Given the description of an element on the screen output the (x, y) to click on. 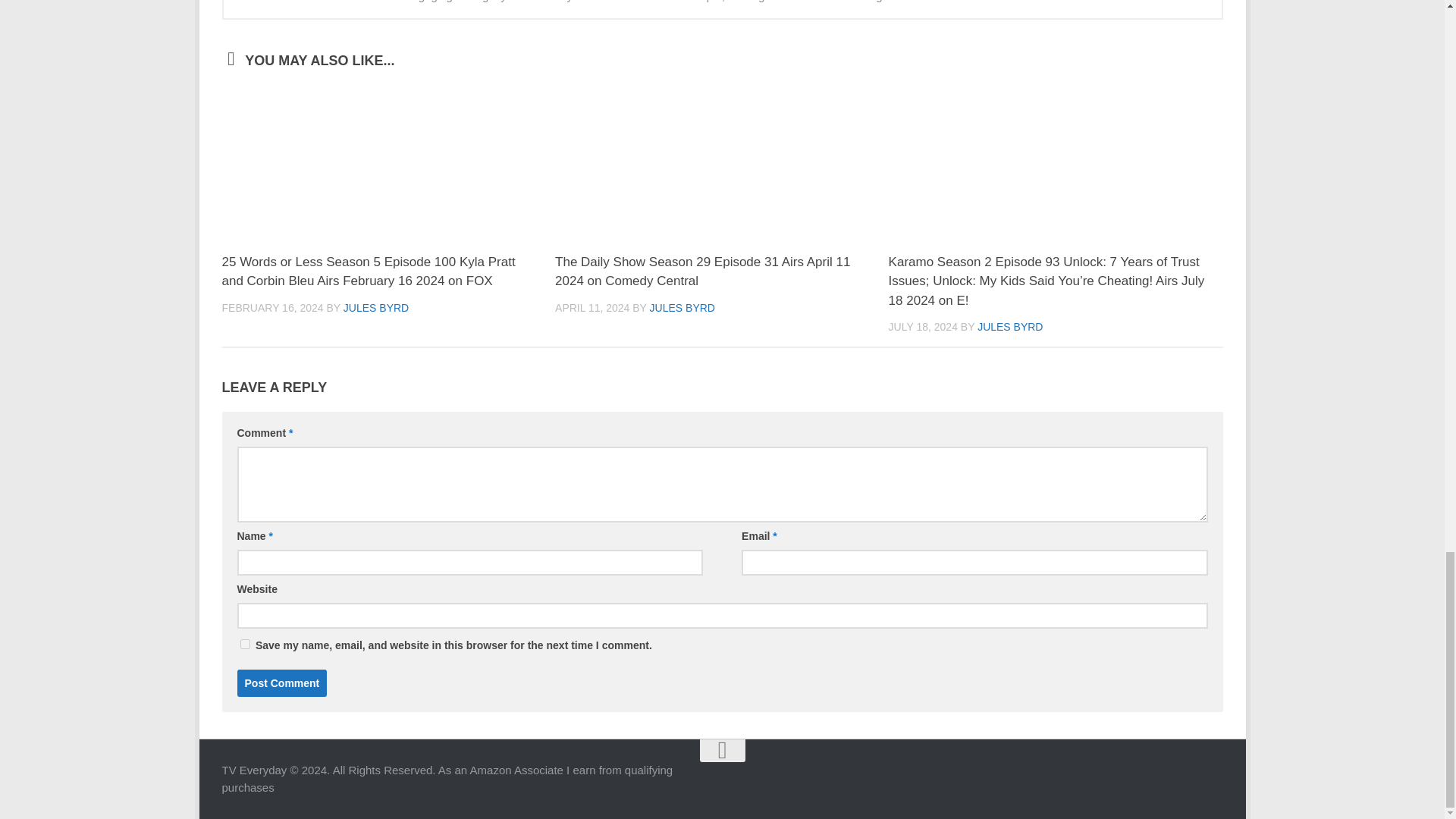
Post Comment (280, 682)
yes (244, 644)
Posts by Jules Byrd (1009, 326)
Posts by Jules Byrd (376, 307)
Post Comment (280, 682)
JULES BYRD (376, 307)
JULES BYRD (681, 307)
Posts by Jules Byrd (681, 307)
